Given the description of an element on the screen output the (x, y) to click on. 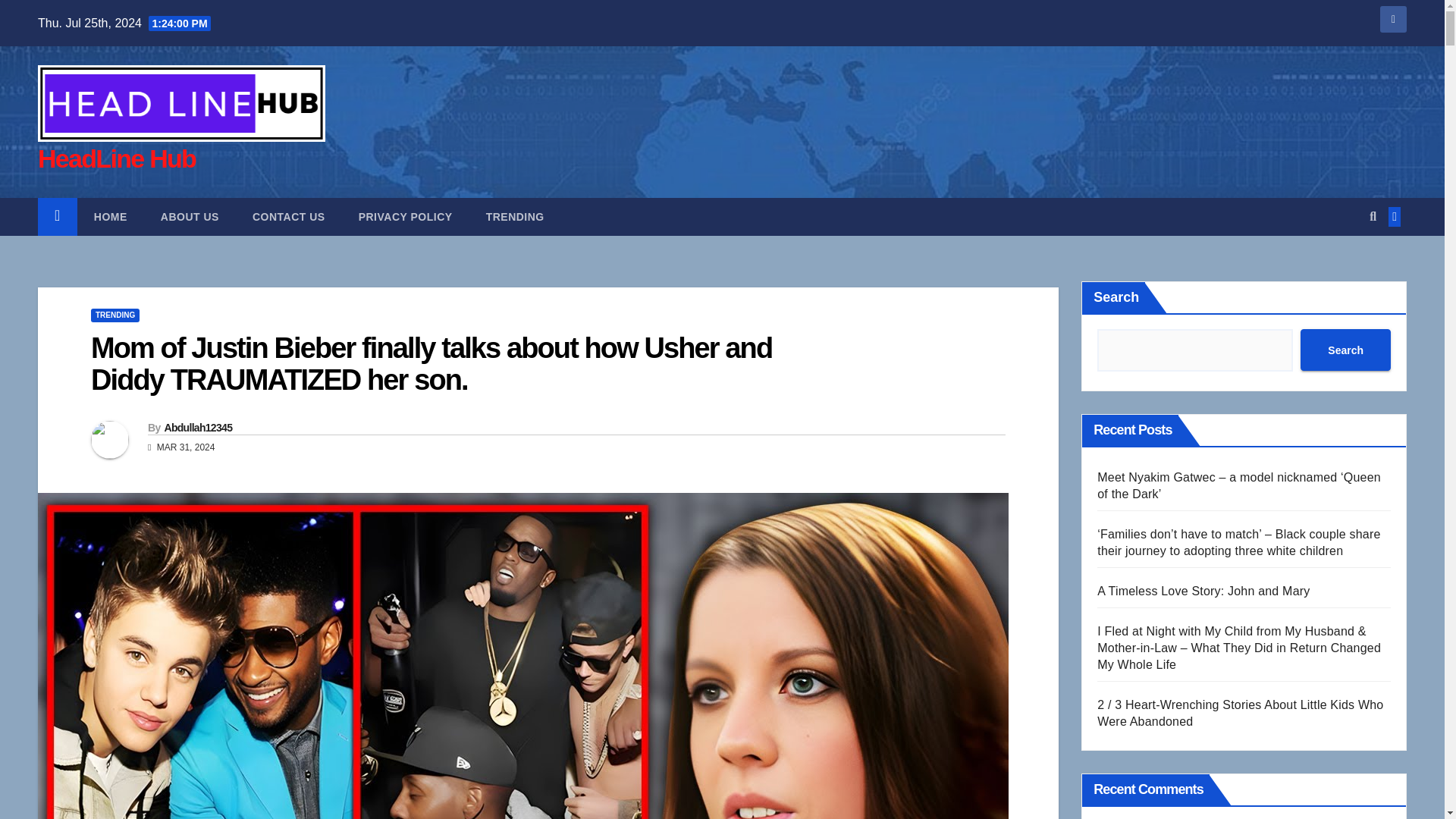
CONTACT US (288, 216)
TRENDING (114, 315)
Contact Us (288, 216)
PRIVACY POLICY (405, 216)
Trending (514, 216)
Abdullah12345 (197, 427)
Privacy Policy (405, 216)
About Us (189, 216)
Home (110, 216)
ABOUT US (189, 216)
TRENDING (514, 216)
HOME (110, 216)
HeadLine Hub (116, 158)
